Given the description of an element on the screen output the (x, y) to click on. 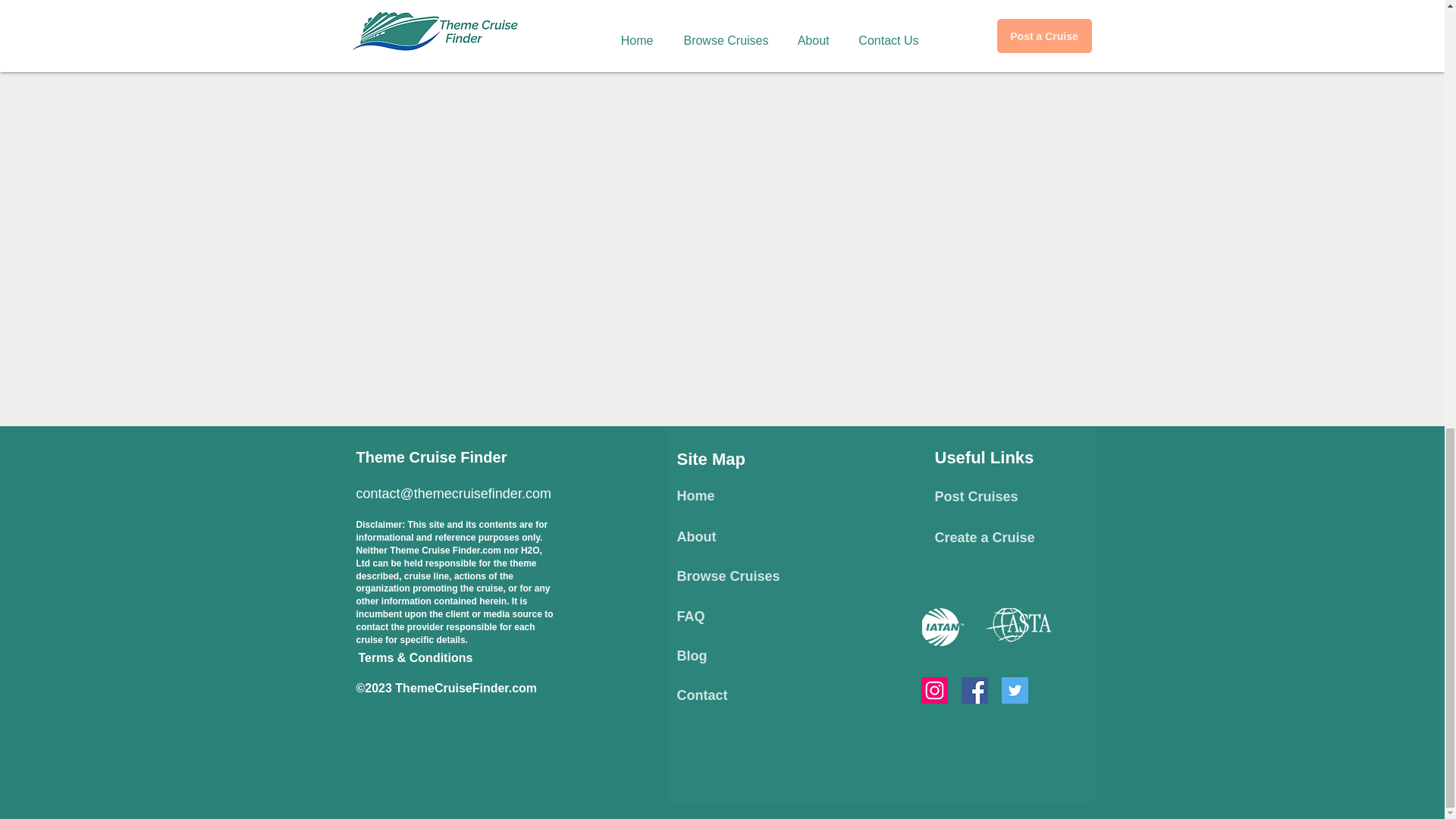
About (696, 536)
Contact (701, 694)
FAQ (690, 616)
Theme Cruise Finder (431, 457)
Home (695, 495)
Blog (691, 655)
Browse Cruises (727, 575)
Wix (844, 724)
Post Cruises (975, 496)
Create a Cruise (983, 537)
